Given the description of an element on the screen output the (x, y) to click on. 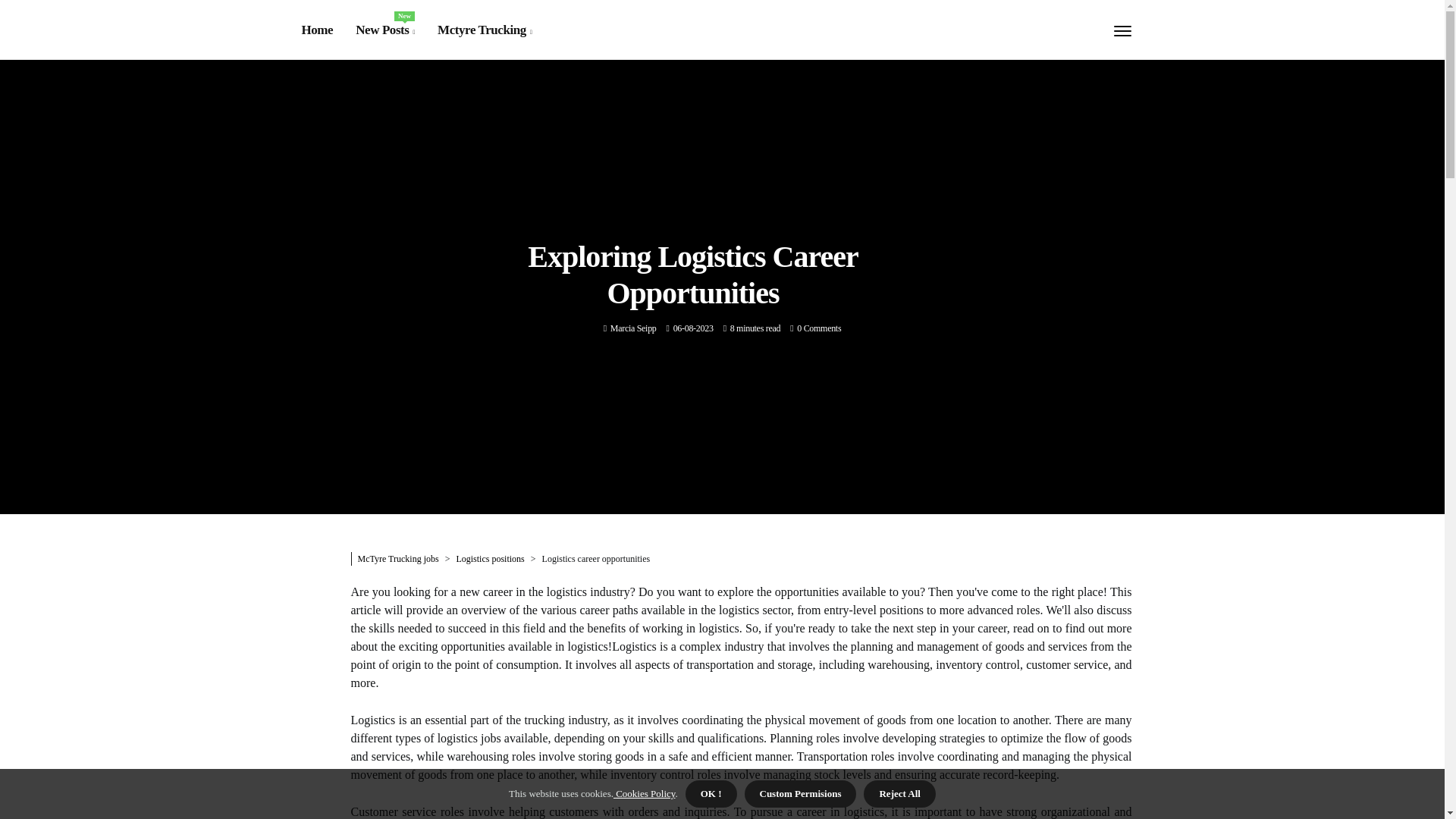
Mctyre Trucking (484, 30)
Posts by Marcia Seipp (633, 327)
